Given the description of an element on the screen output the (x, y) to click on. 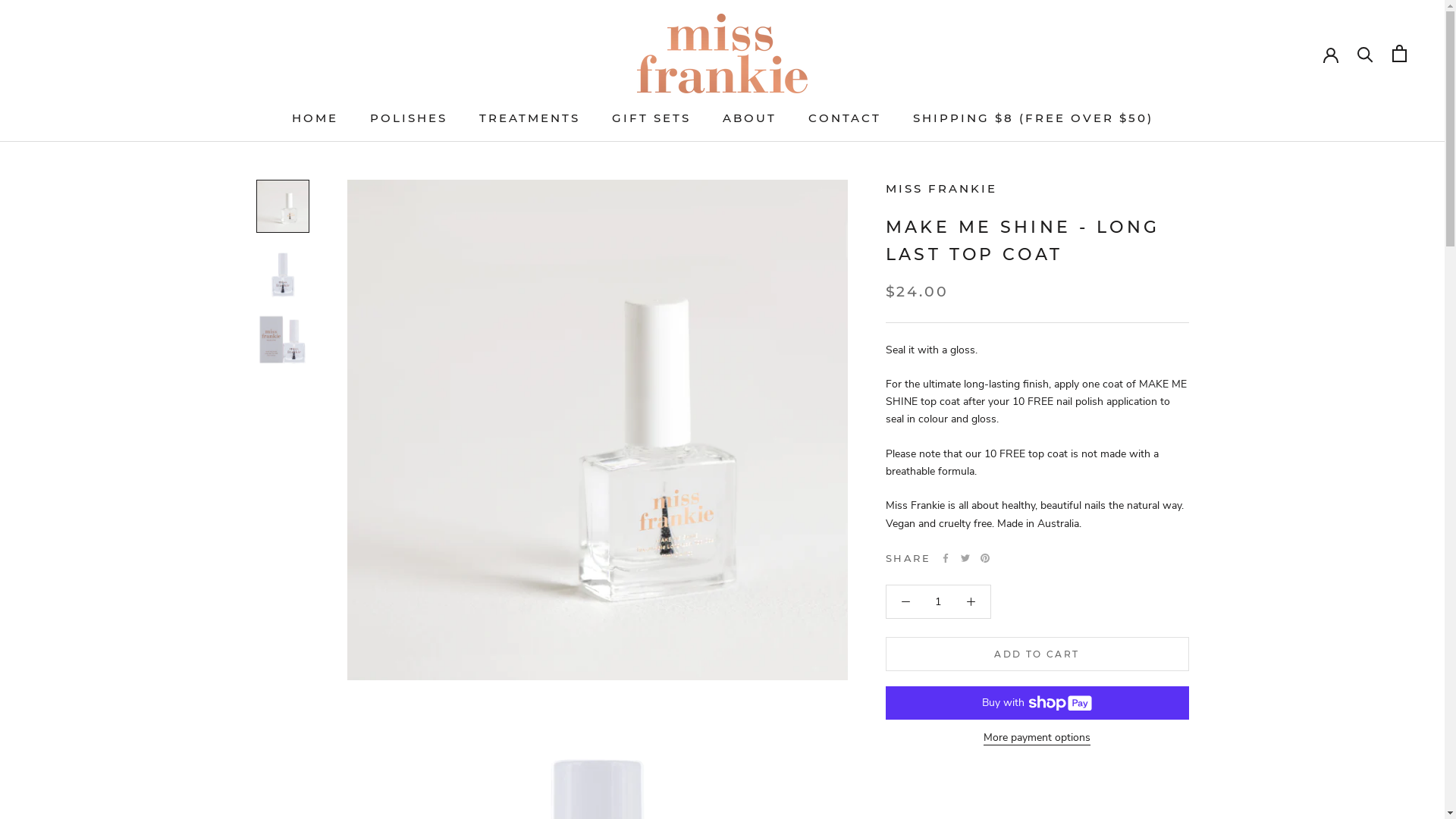
SHIPPING $8 (FREE OVER $50)
SHIPPING $8 (FREE OVER $50) Element type: text (1033, 117)
CONTACT Element type: text (844, 117)
POLISHES
POLISHES Element type: text (408, 117)
More payment options Element type: text (1036, 737)
HOME
HOME Element type: text (314, 117)
GIFT SETS
GIFT SETS Element type: text (650, 117)
ABOUT Element type: text (748, 117)
TREATMENTS
TREATMENTS Element type: text (529, 117)
ADD TO CART Element type: text (1037, 654)
